Given the description of an element on the screen output the (x, y) to click on. 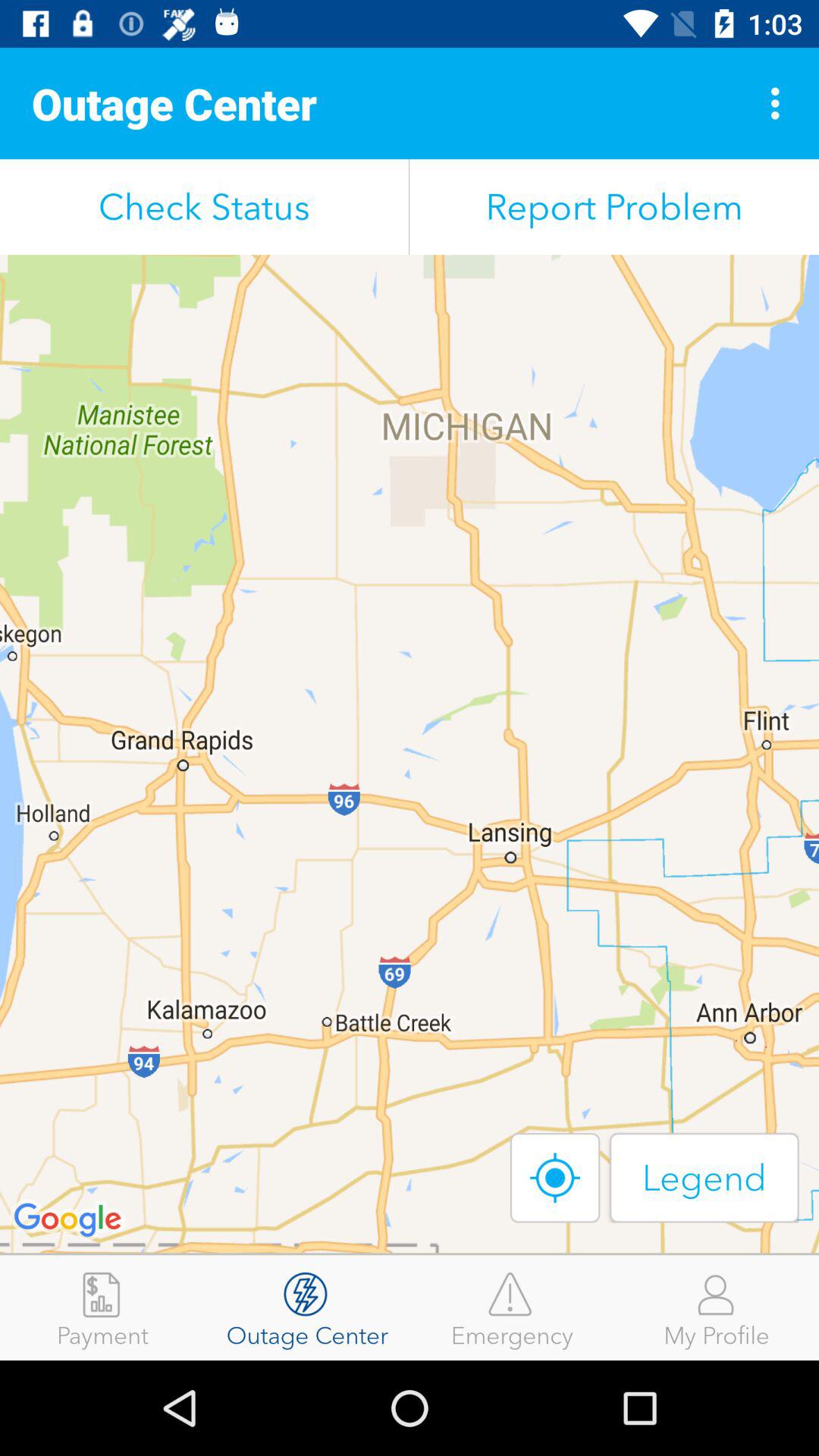
open item to the left of the outage center icon (102, 1307)
